Given the description of an element on the screen output the (x, y) to click on. 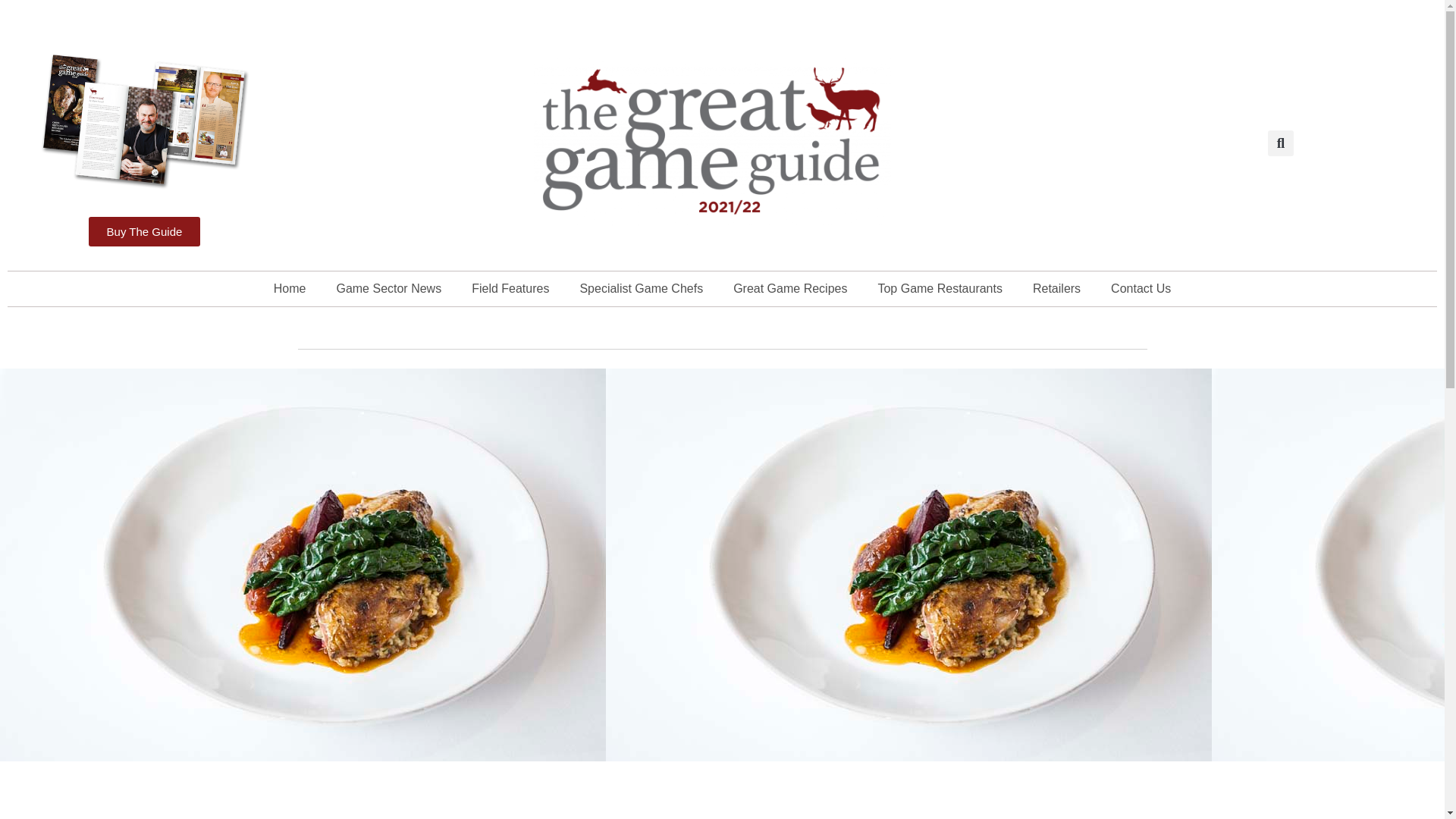
Buy The Guide (144, 231)
Great Game Recipes (789, 288)
Home (290, 288)
Contact Us (1141, 288)
Game Sector News (388, 288)
Field Features (510, 288)
Top Game Restaurants (939, 288)
Retailers (1056, 288)
Specialist Game Chefs (640, 288)
